Given the description of an element on the screen output the (x, y) to click on. 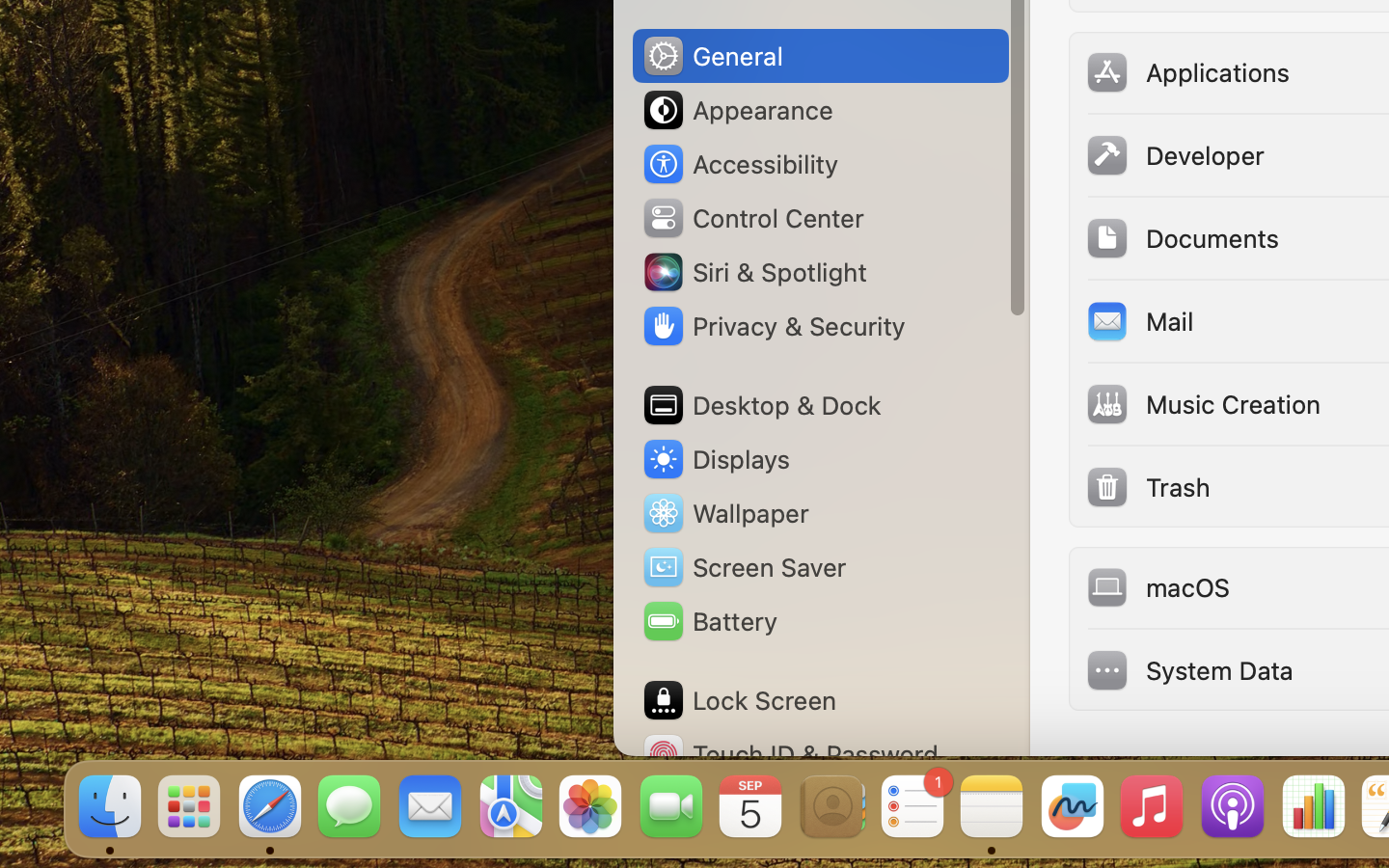
Developer Element type: AXStaticText (1174, 154)
Battery Element type: AXStaticText (708, 620)
Applications Element type: AXStaticText (1187, 71)
Screen Saver Element type: AXStaticText (743, 566)
Privacy & Security Element type: AXStaticText (772, 325)
